Given the description of an element on the screen output the (x, y) to click on. 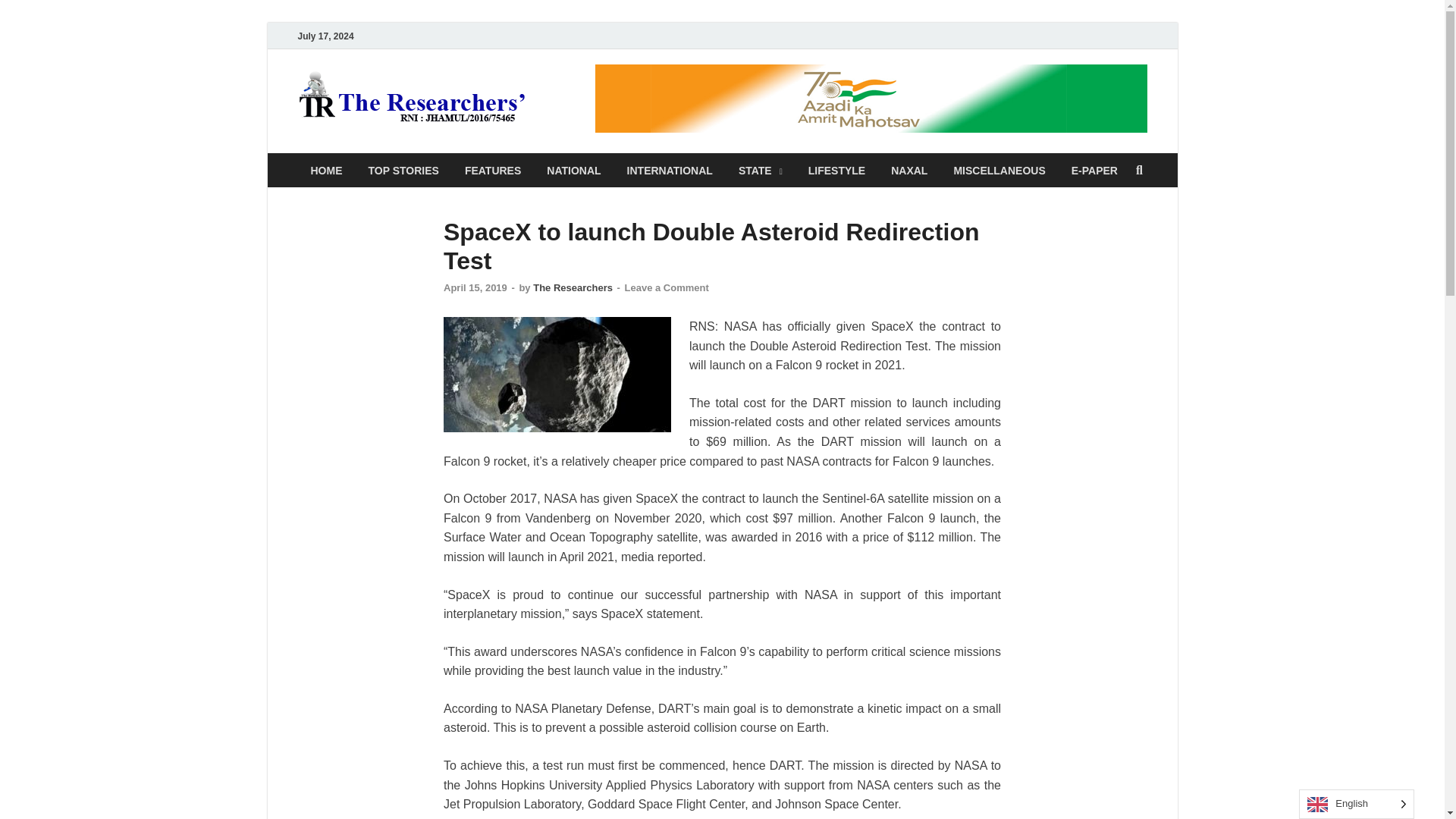
E-PAPER (1094, 170)
STATE (759, 170)
FEATURES (492, 170)
Leave a Comment (666, 287)
MISCELLANEOUS (999, 170)
April 15, 2019 (475, 287)
LIFESTYLE (835, 170)
NAXAL (908, 170)
HOME (326, 170)
INTERNATIONAL (669, 170)
The Researchers (647, 100)
TOP STORIES (403, 170)
NATIONAL (573, 170)
The Researchers (572, 287)
